Given the description of an element on the screen output the (x, y) to click on. 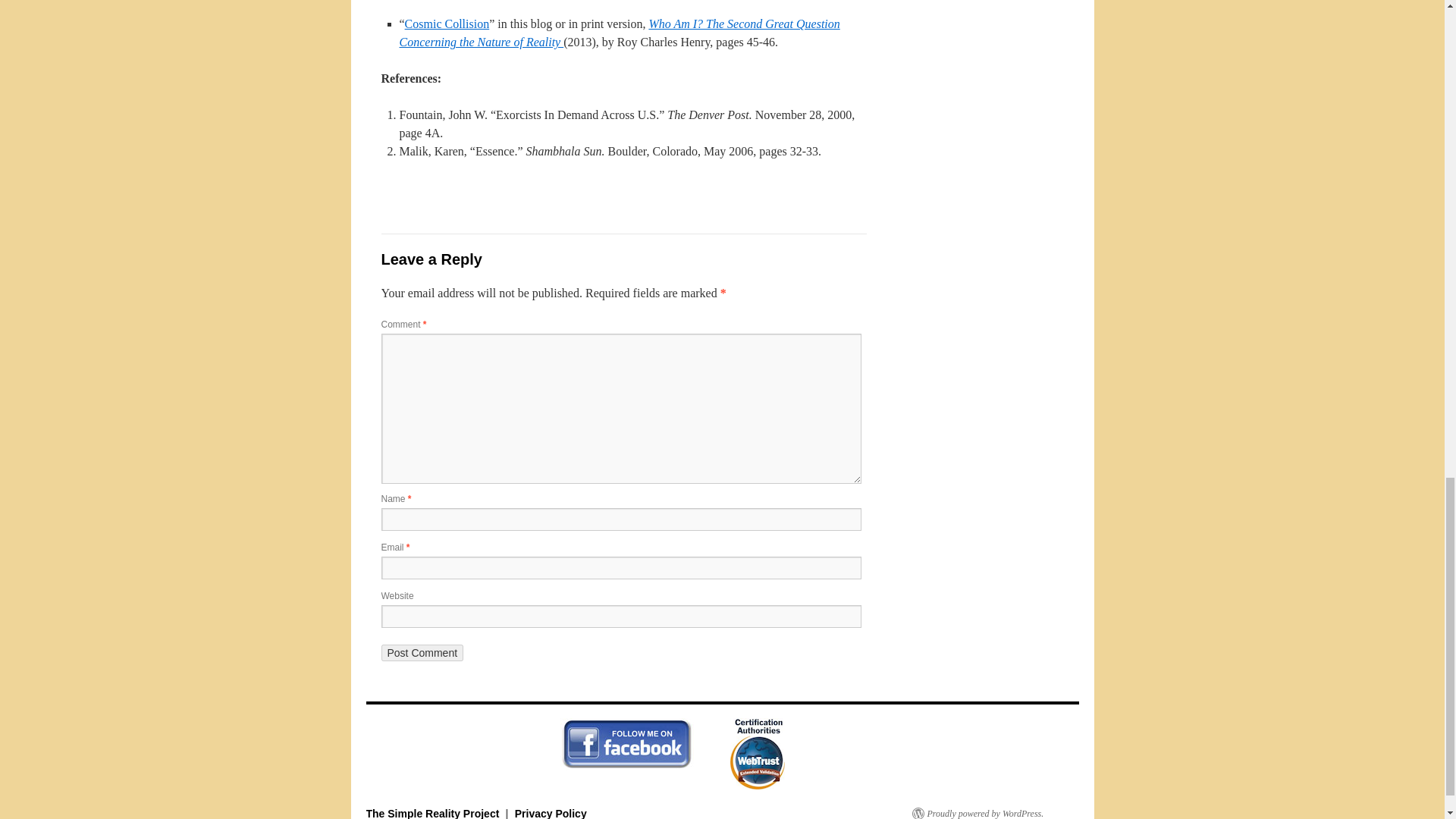
Post Comment (421, 652)
